Given the description of an element on the screen output the (x, y) to click on. 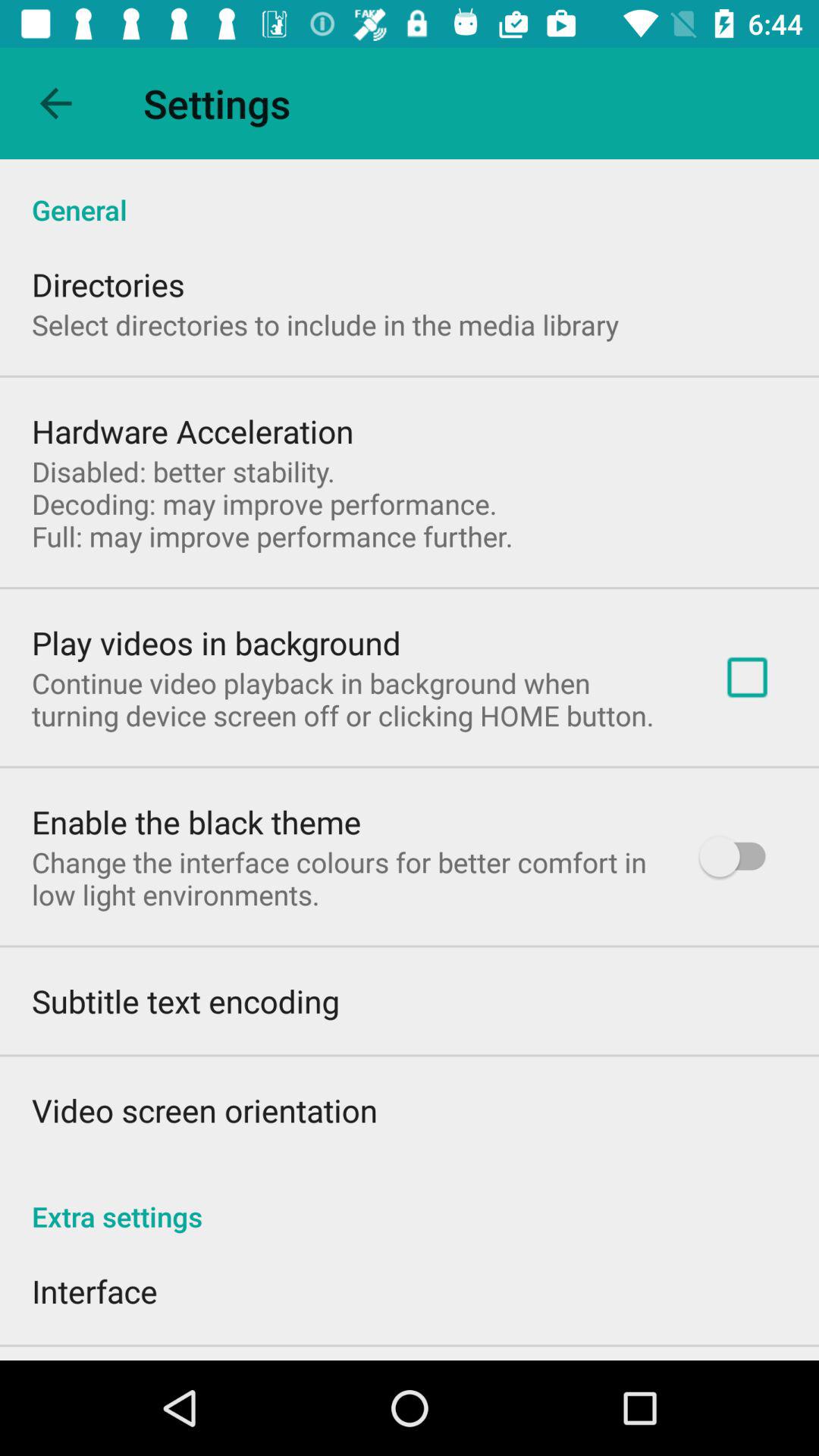
press the icon above play videos in icon (272, 503)
